Given the description of an element on the screen output the (x, y) to click on. 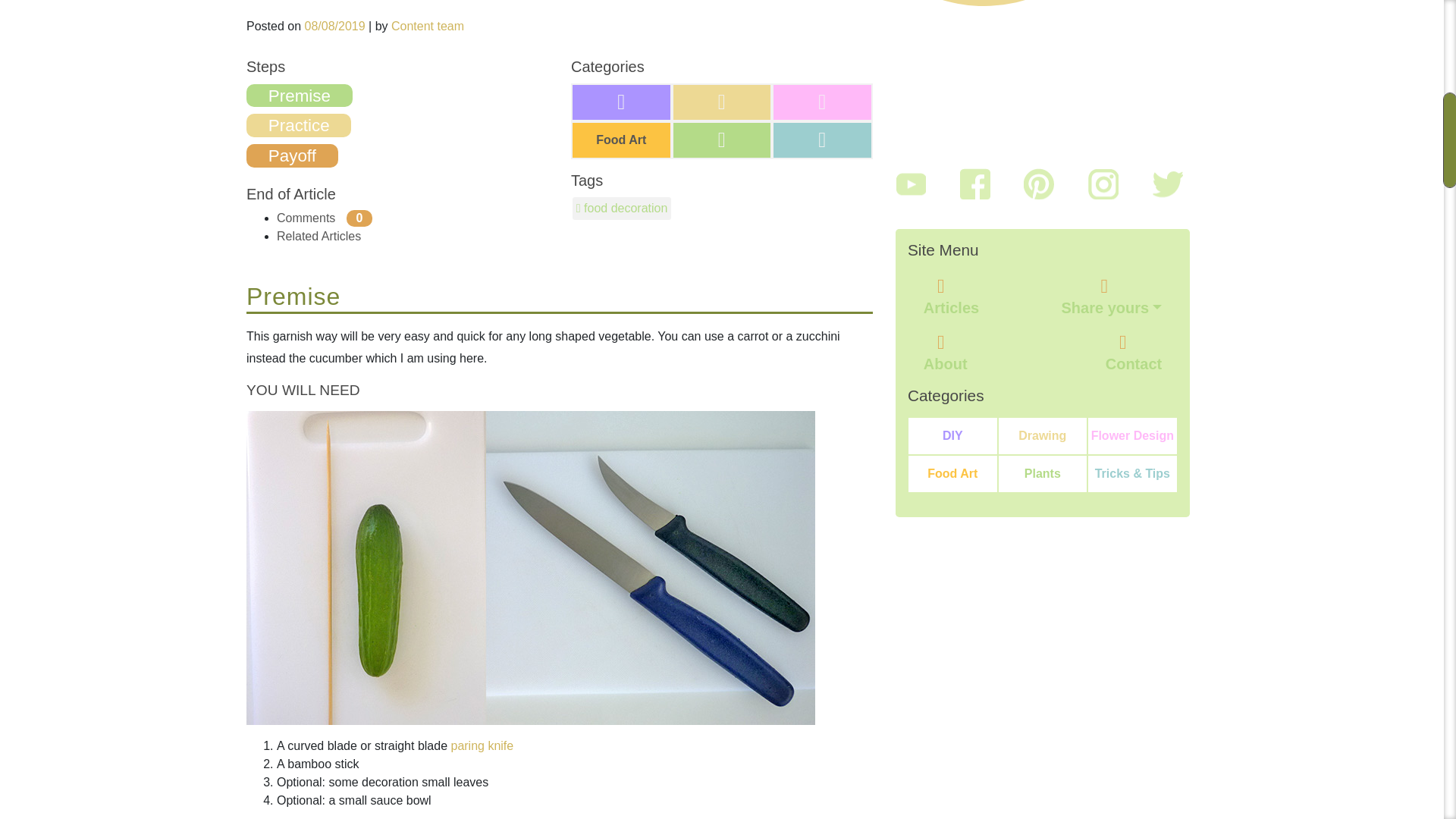
Articles (950, 304)
yt (910, 183)
Comments 0 (324, 217)
fb (974, 183)
Premise (299, 95)
Practice (298, 125)
Share yours (1111, 304)
paring knife (481, 745)
Related Articles (318, 236)
food decoration (622, 207)
